Given the description of an element on the screen output the (x, y) to click on. 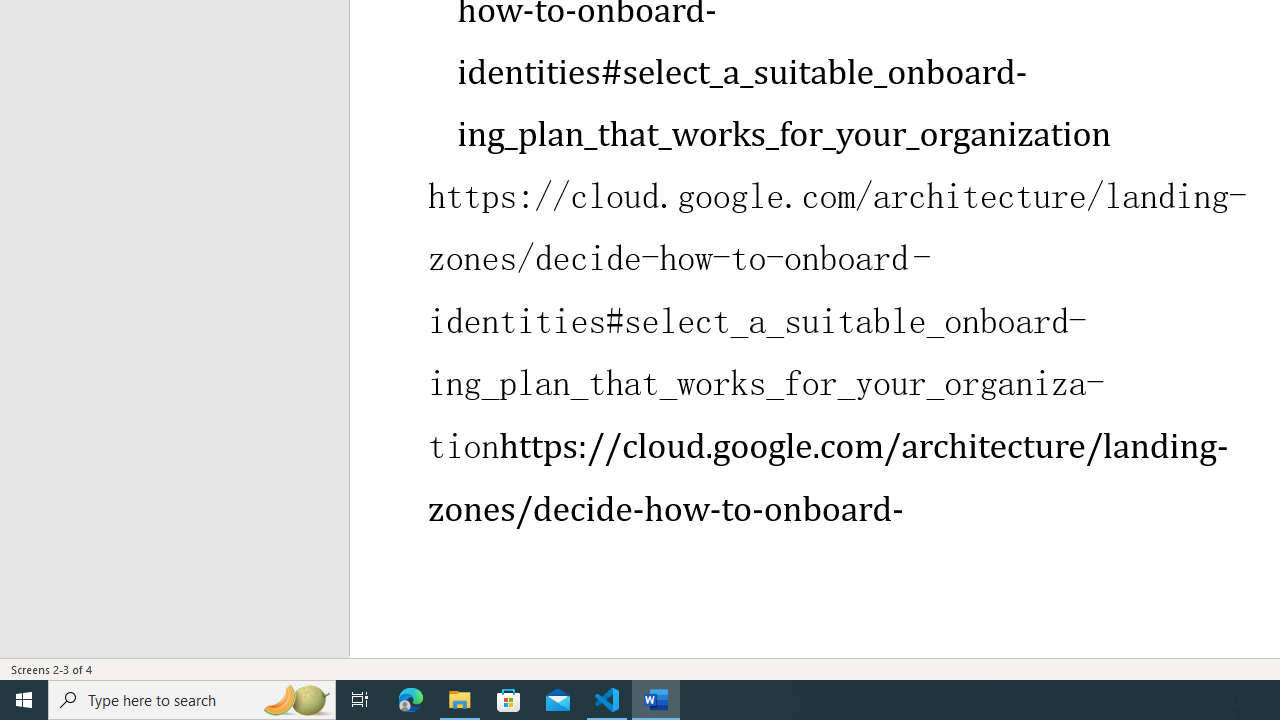
Page Number Screens 2-3 of 4  (52, 668)
